Given the description of an element on the screen output the (x, y) to click on. 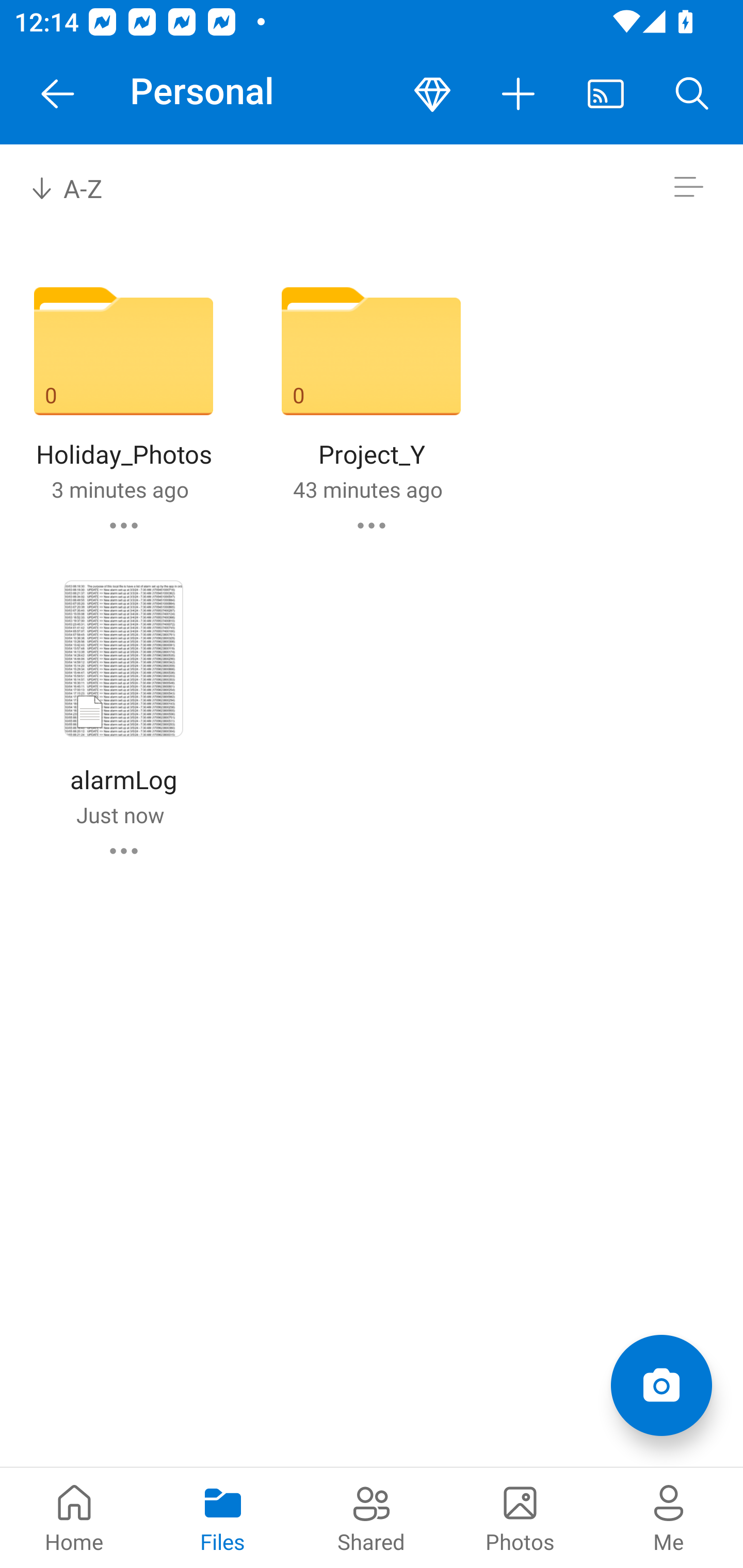
Navigate Up (57, 93)
Cast. Disconnected (605, 93)
Premium button (432, 93)
More actions button (518, 93)
Search button (692, 93)
A-Z Sort by combo box, sort by name, A to Z (80, 187)
Switch to list view (688, 187)
3 minutes ago (119, 489)
43 minutes ago (367, 489)
Holiday_Photos commands (123, 525)
Project_Y commands (371, 525)
Document alarmLog Just now alarmLog commands (123, 714)
Just now (119, 814)
alarmLog commands (123, 851)
Add items Scan (660, 1385)
Home pivot Home (74, 1517)
Shared pivot Shared (371, 1517)
Photos pivot Photos (519, 1517)
Me pivot Me (668, 1517)
